Given the description of an element on the screen output the (x, y) to click on. 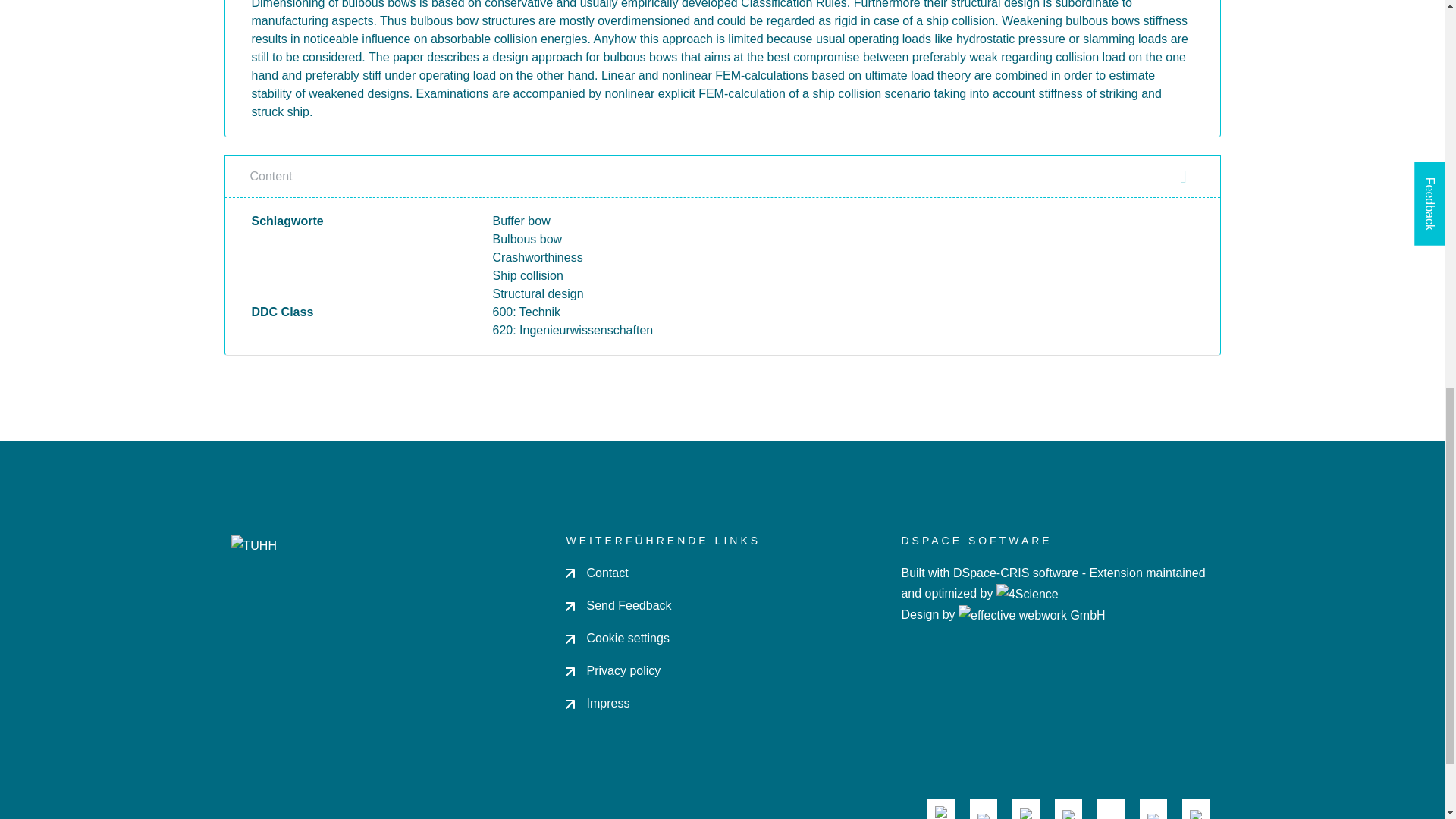
effective webwork GmbH Hamburg (1031, 614)
Close section (1183, 176)
Content (722, 176)
